Given the description of an element on the screen output the (x, y) to click on. 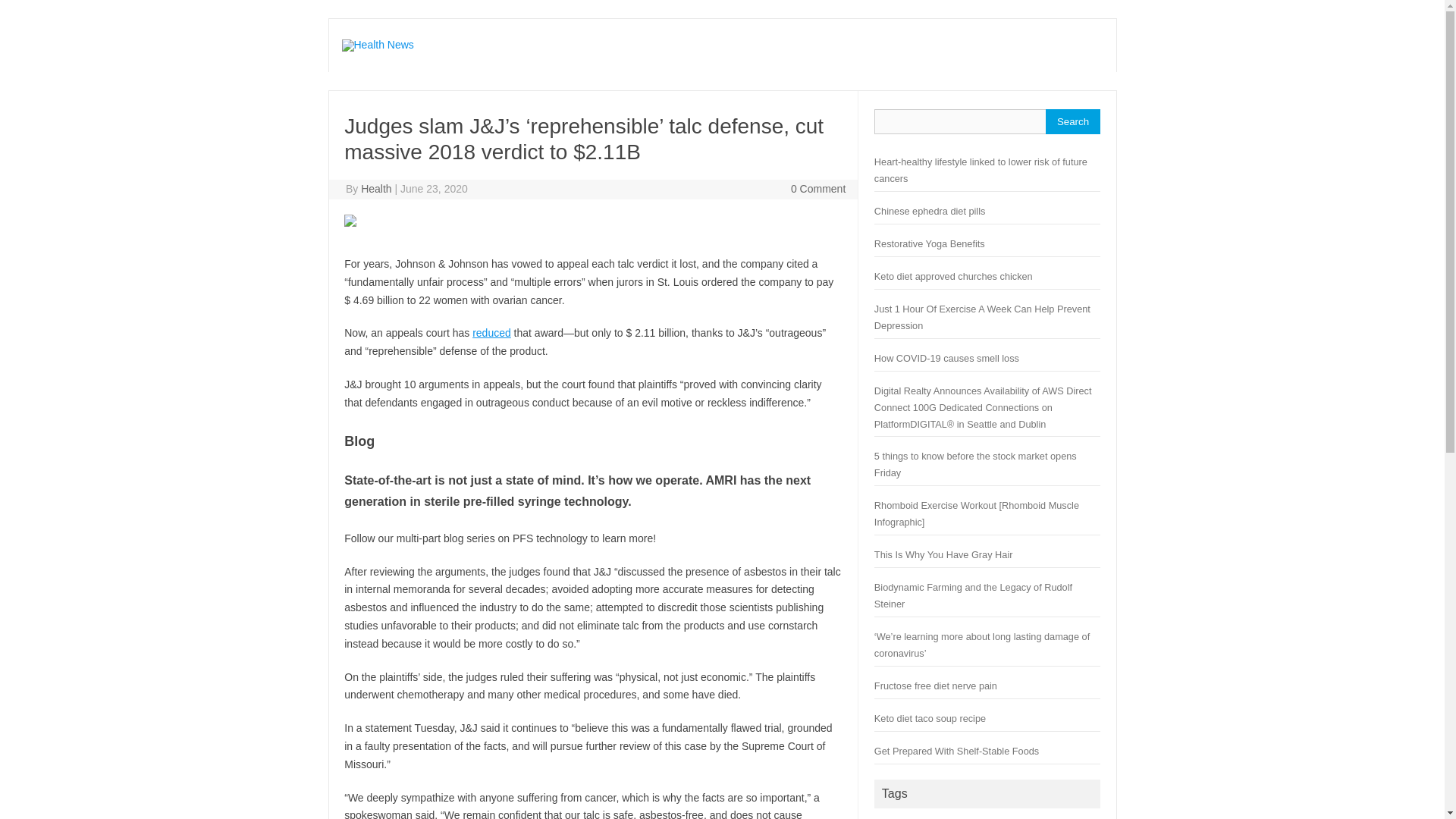
Posts by Health (376, 188)
Get Prepared With Shelf-Stable Foods (957, 750)
5 things to know before the stock market opens Friday (976, 464)
Fructose free diet nerve pain (936, 685)
Just 1 Hour Of Exercise A Week Can Help Prevent Depression (982, 317)
Search (1072, 121)
Health (376, 188)
0 Comment (817, 188)
Restorative Yoga Benefits (930, 243)
Chinese ephedra diet pills (930, 211)
How COVID-19 causes smell loss (947, 357)
Keto diet approved churches chicken (953, 276)
